Given the description of an element on the screen output the (x, y) to click on. 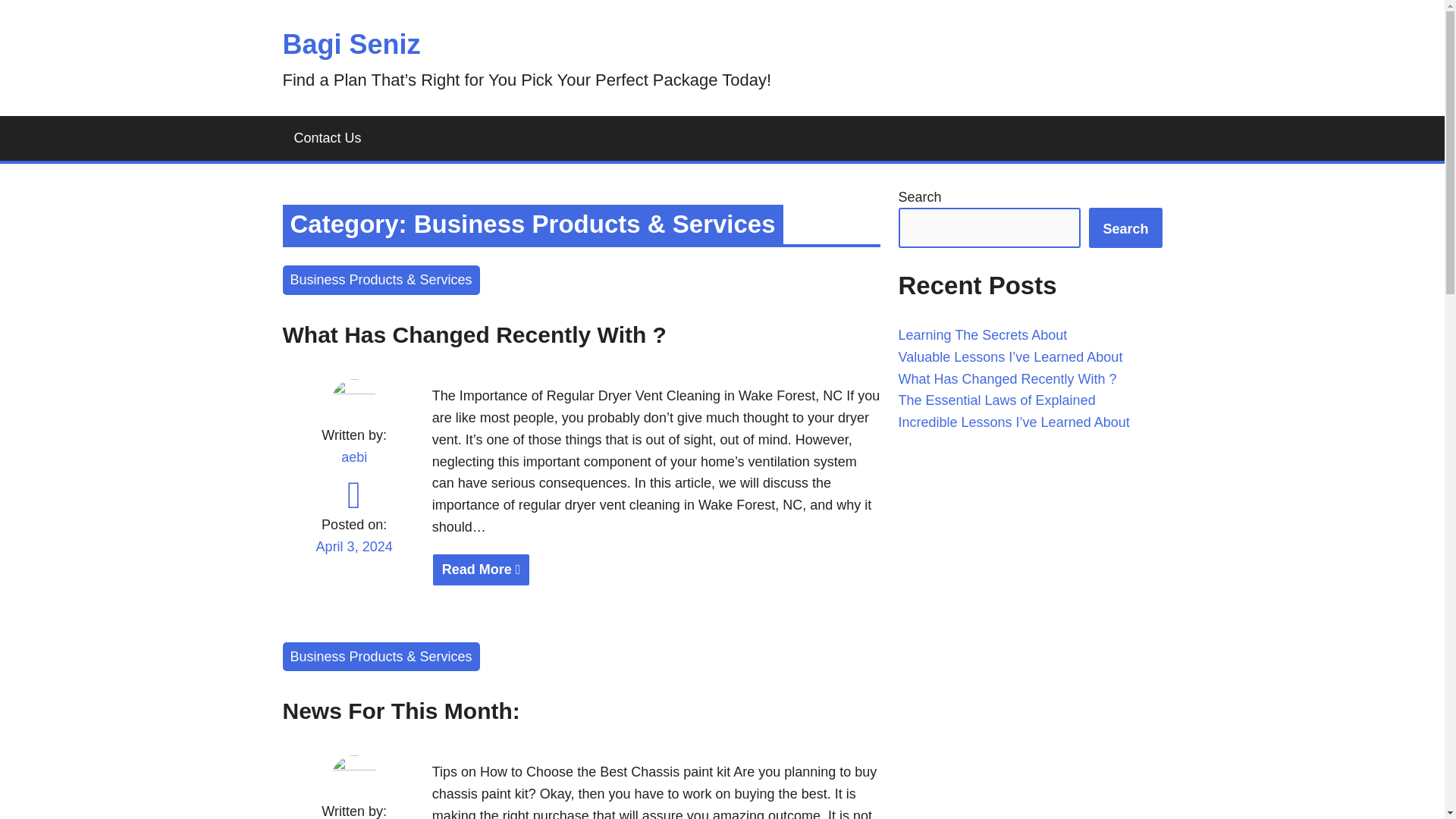
aebi (353, 457)
Read More (481, 569)
Contact Us (656, 569)
What Has Changed Recently With ? (327, 138)
News For This Month: (656, 569)
April 3, 2024 (400, 710)
Bagi Seniz (353, 556)
What Has Changed Recently With ? (351, 43)
